Given the description of an element on the screen output the (x, y) to click on. 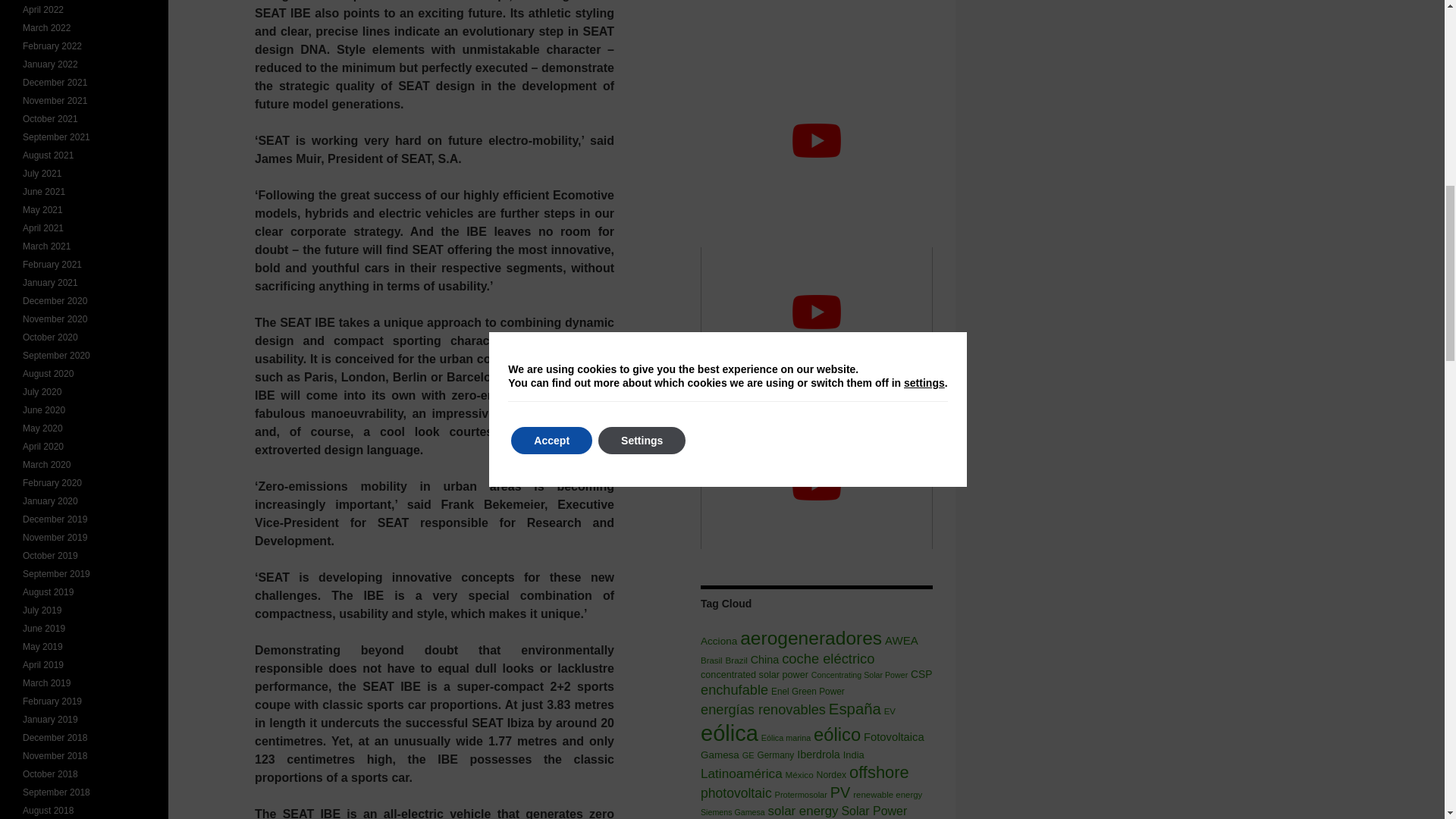
Acciona (718, 641)
